Given the description of an element on the screen output the (x, y) to click on. 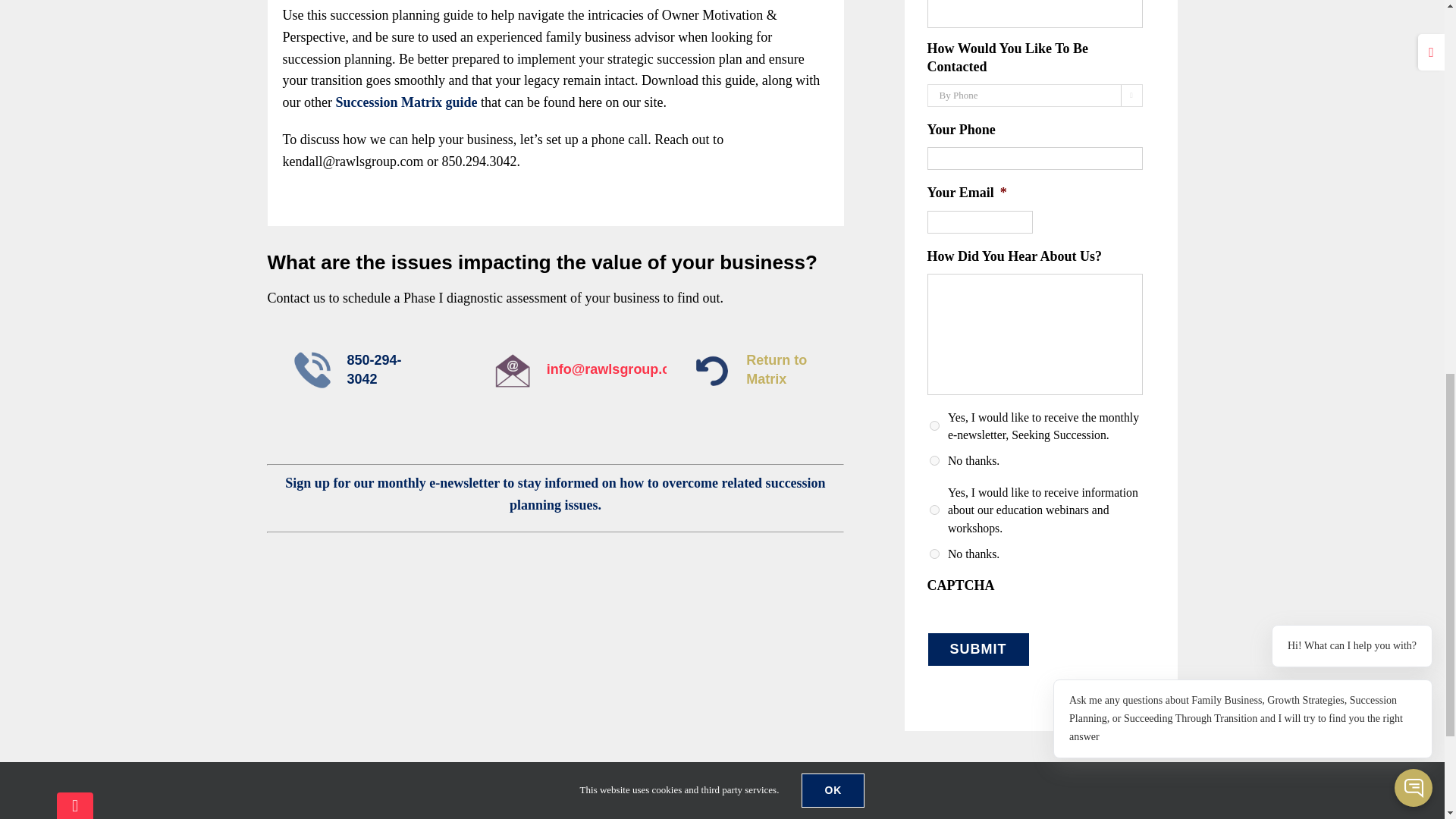
Submit (977, 649)
No thanks. (934, 553)
No thanks. (934, 460)
